Given the description of an element on the screen output the (x, y) to click on. 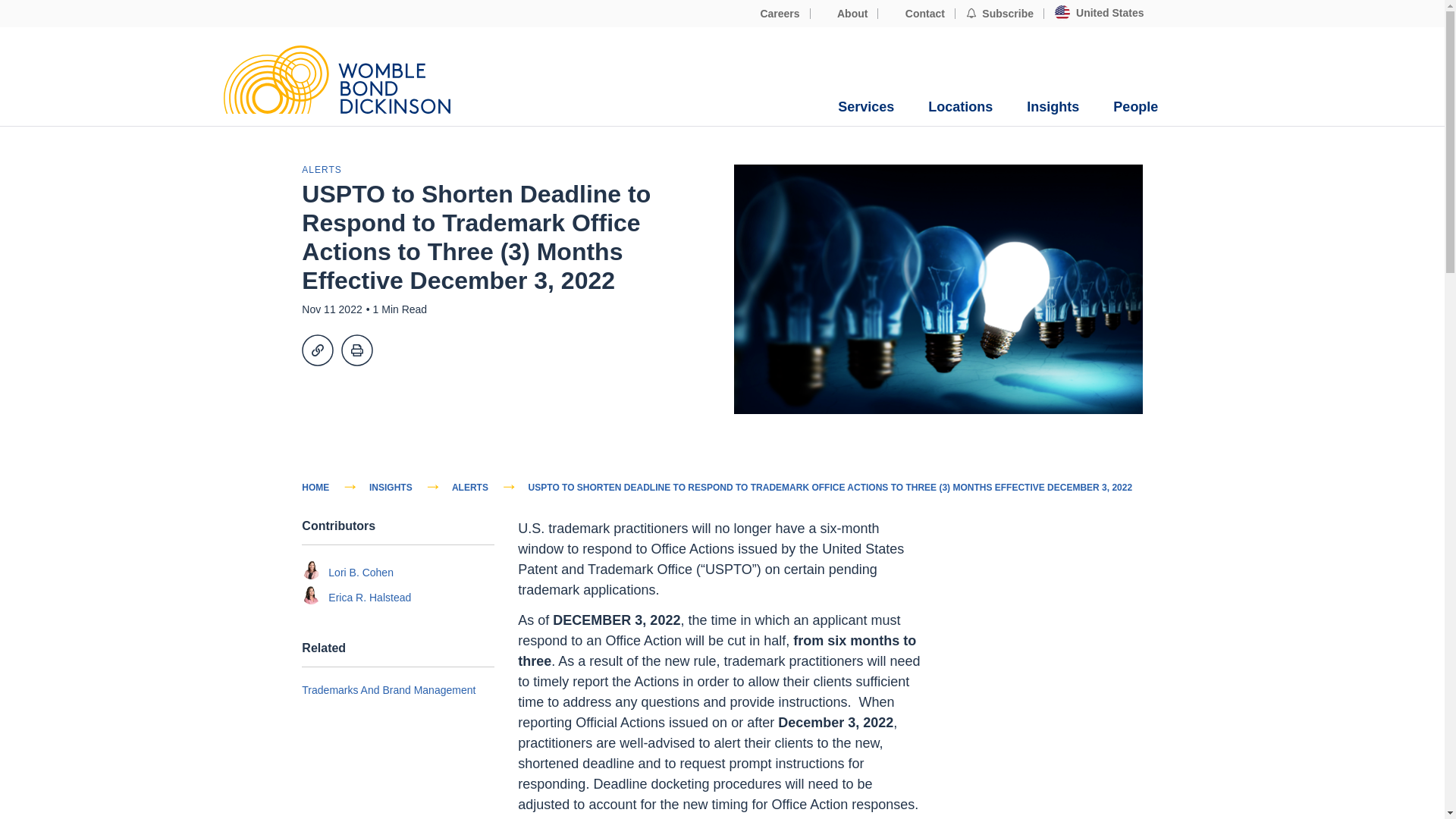
About (844, 13)
Contact (916, 13)
Careers (771, 13)
Services (865, 107)
United States (1098, 13)
Locations (960, 107)
